Given the description of an element on the screen output the (x, y) to click on. 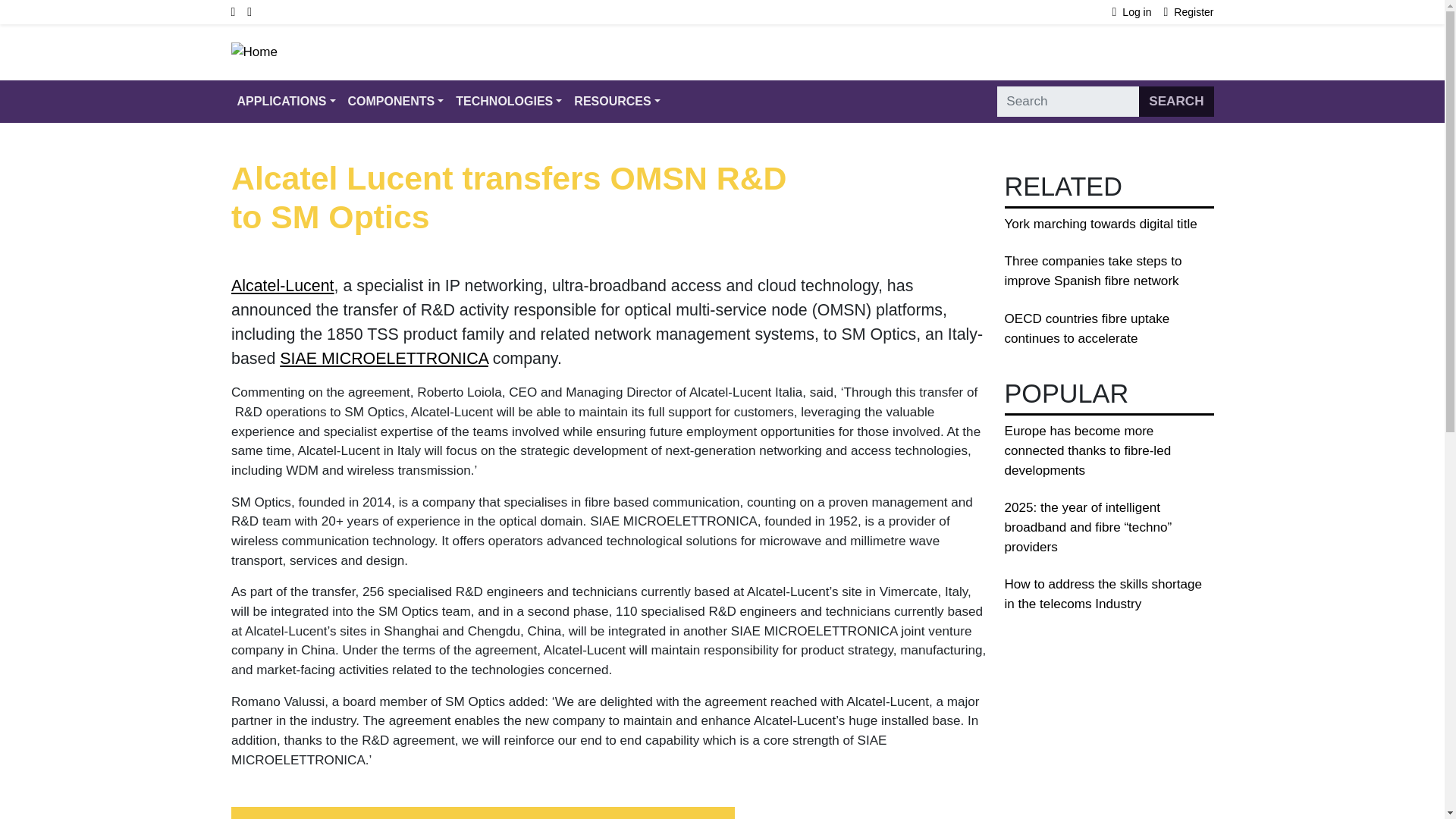
Register (1188, 12)
York marching towards digital title (1100, 223)
Log in (1137, 12)
SIAE MICROELETTRONICA (383, 358)
SEARCH (1175, 101)
Three companies take steps to improve Spanish fibre network (1092, 270)
Enter the terms you wish to search for. (1067, 101)
OECD countries fibre uptake continues to accelerate (1086, 328)
Alcatel-Lucent (281, 285)
